Given the description of an element on the screen output the (x, y) to click on. 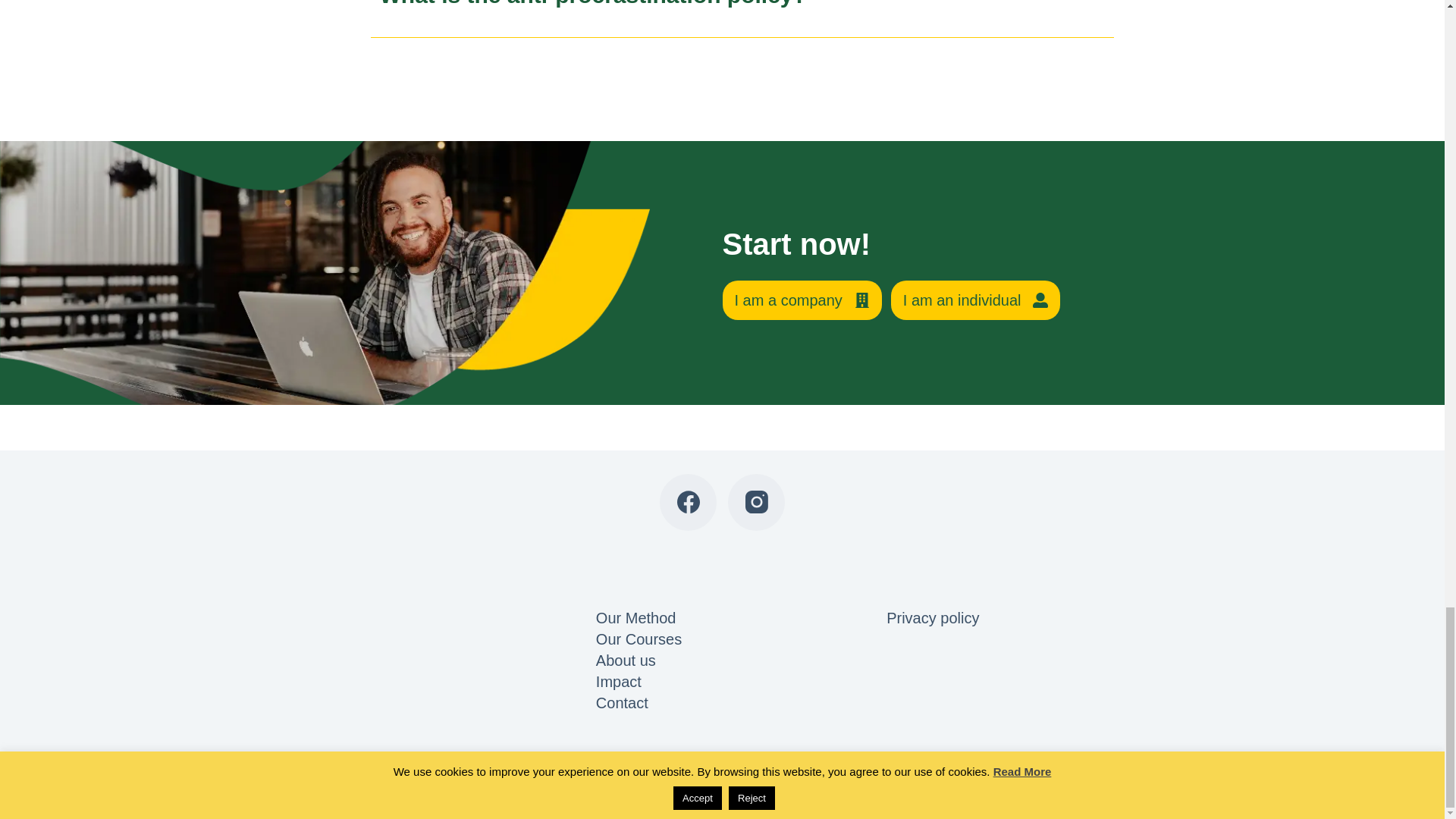
Impact (618, 681)
Privacy policy (932, 617)
I am an individual (976, 300)
Contact (621, 702)
Our Method (636, 617)
Our Courses (638, 638)
I am a company (801, 300)
About us (625, 660)
